Given the description of an element on the screen output the (x, y) to click on. 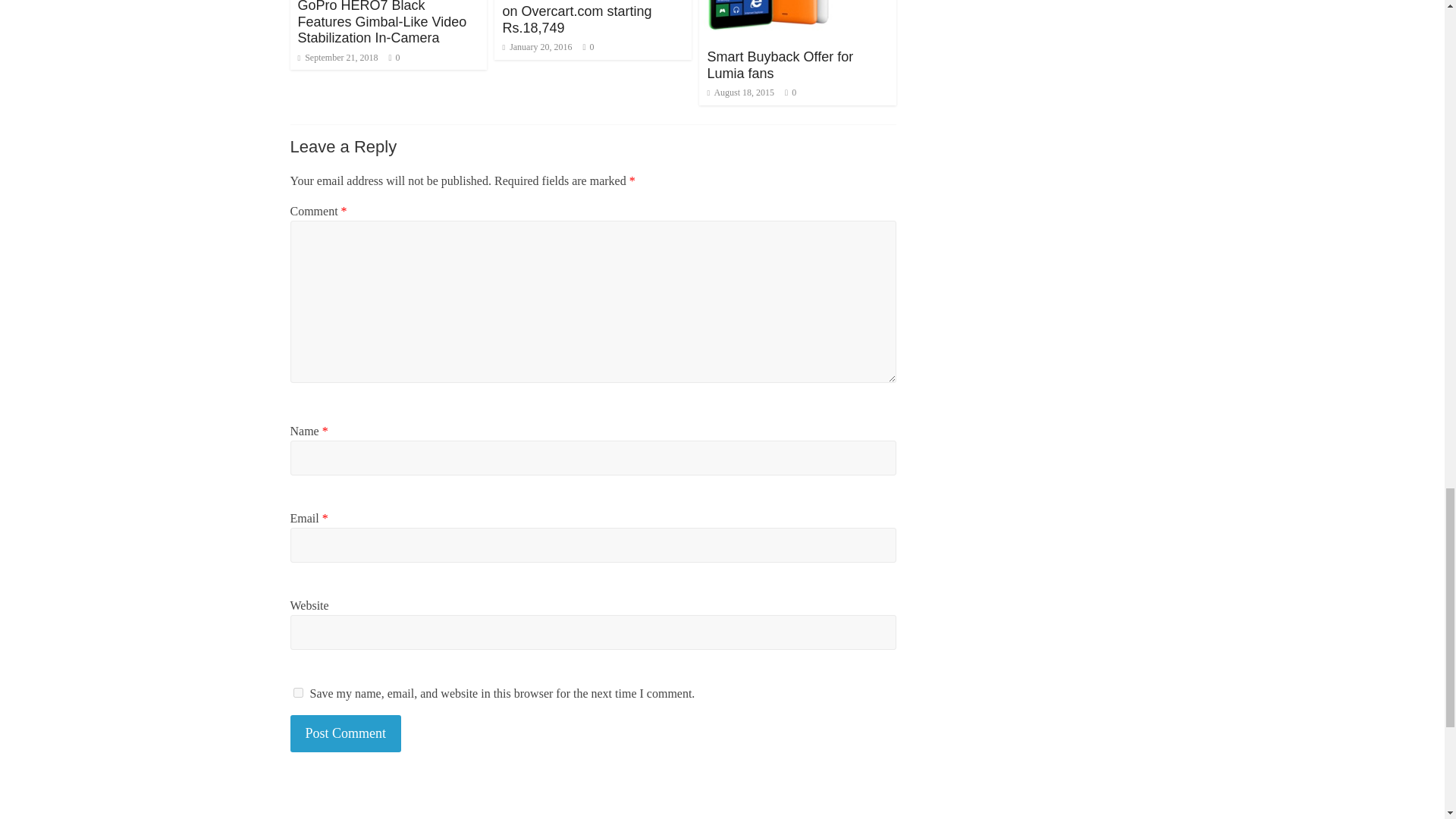
OnePlus2 64 GB flash sale on Overcart.com starting Rs.18,749 (583, 17)
September 21, 2018 (337, 57)
5:24 pm (337, 57)
August 18, 2015 (740, 91)
yes (297, 692)
January 20, 2016 (537, 46)
OnePlus2 64 GB flash sale on Overcart.com starting Rs.18,749 (583, 17)
Post Comment (345, 733)
Smart Buyback Offer for Lumia fans (779, 65)
